Given the description of an element on the screen output the (x, y) to click on. 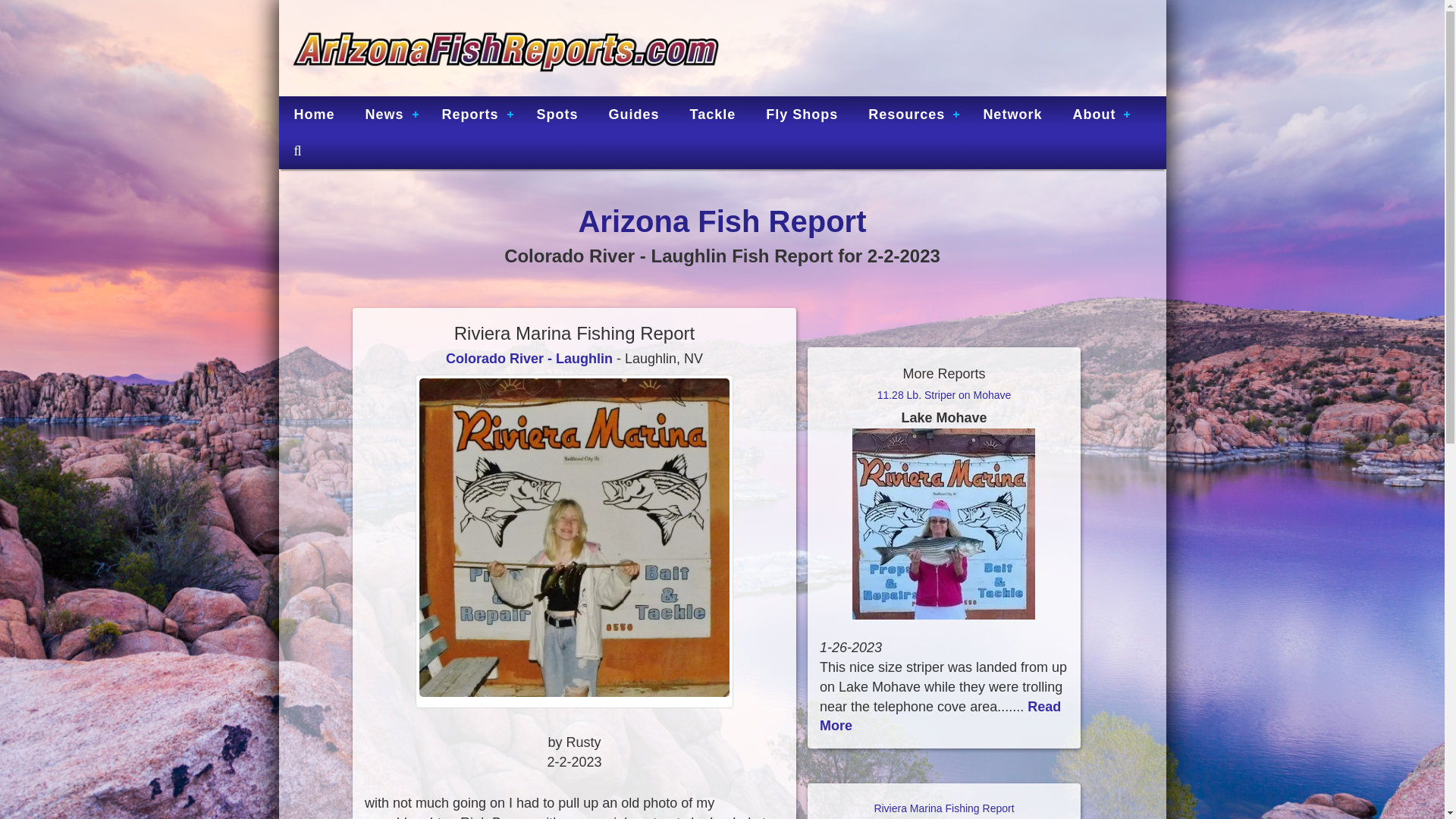
Reports (473, 114)
Network (1012, 114)
Tackle (713, 114)
Riviera Marina Fishing Report (943, 811)
Home (314, 114)
News (388, 114)
Colorado River - Laughlin (528, 358)
11.28 Lb. Striper on Mohave (943, 407)
Guides (634, 114)
Read More (940, 716)
